Given the description of an element on the screen output the (x, y) to click on. 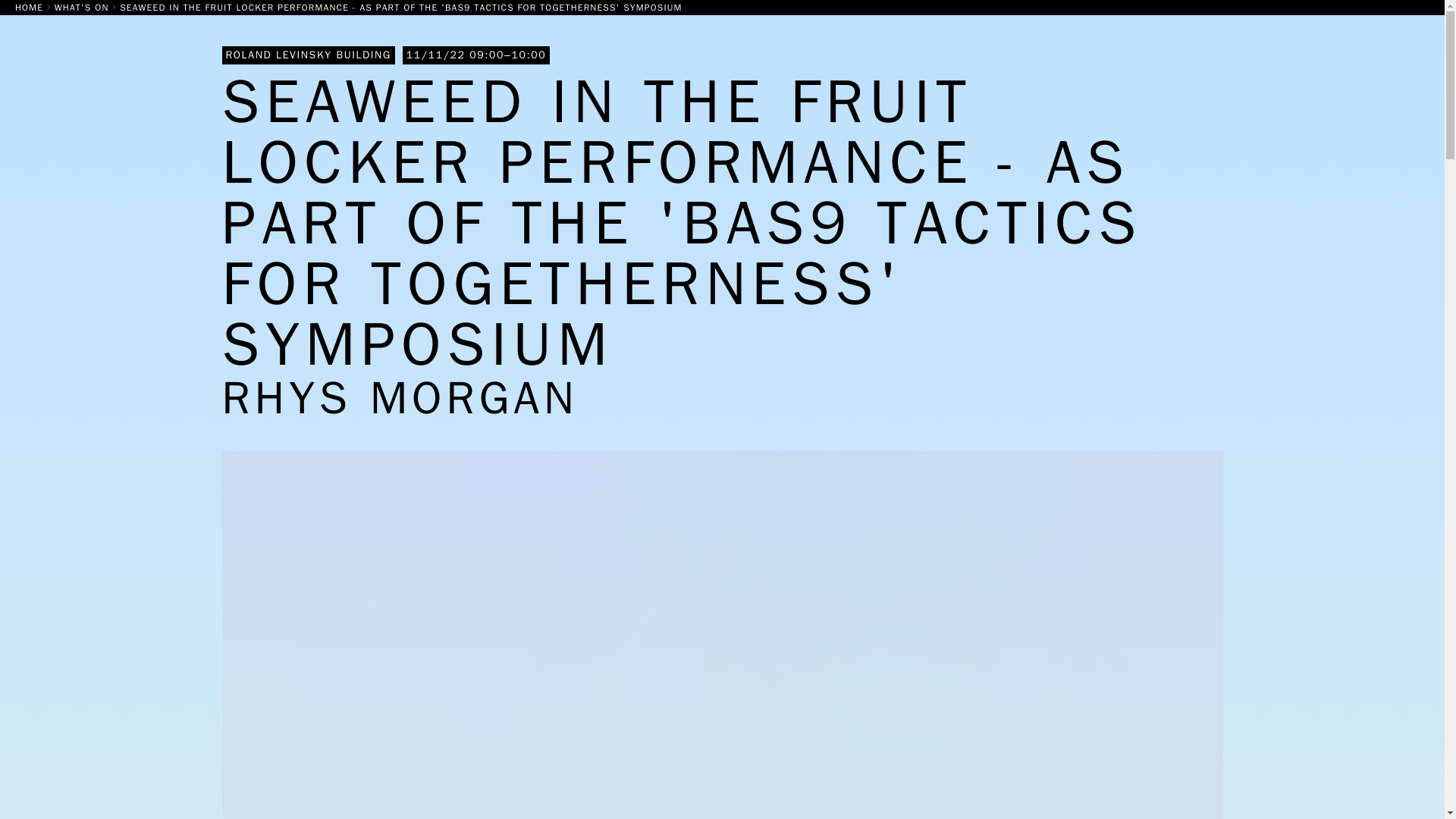
WHAT'S ON (84, 7)
HOME (30, 7)
